Given the description of an element on the screen output the (x, y) to click on. 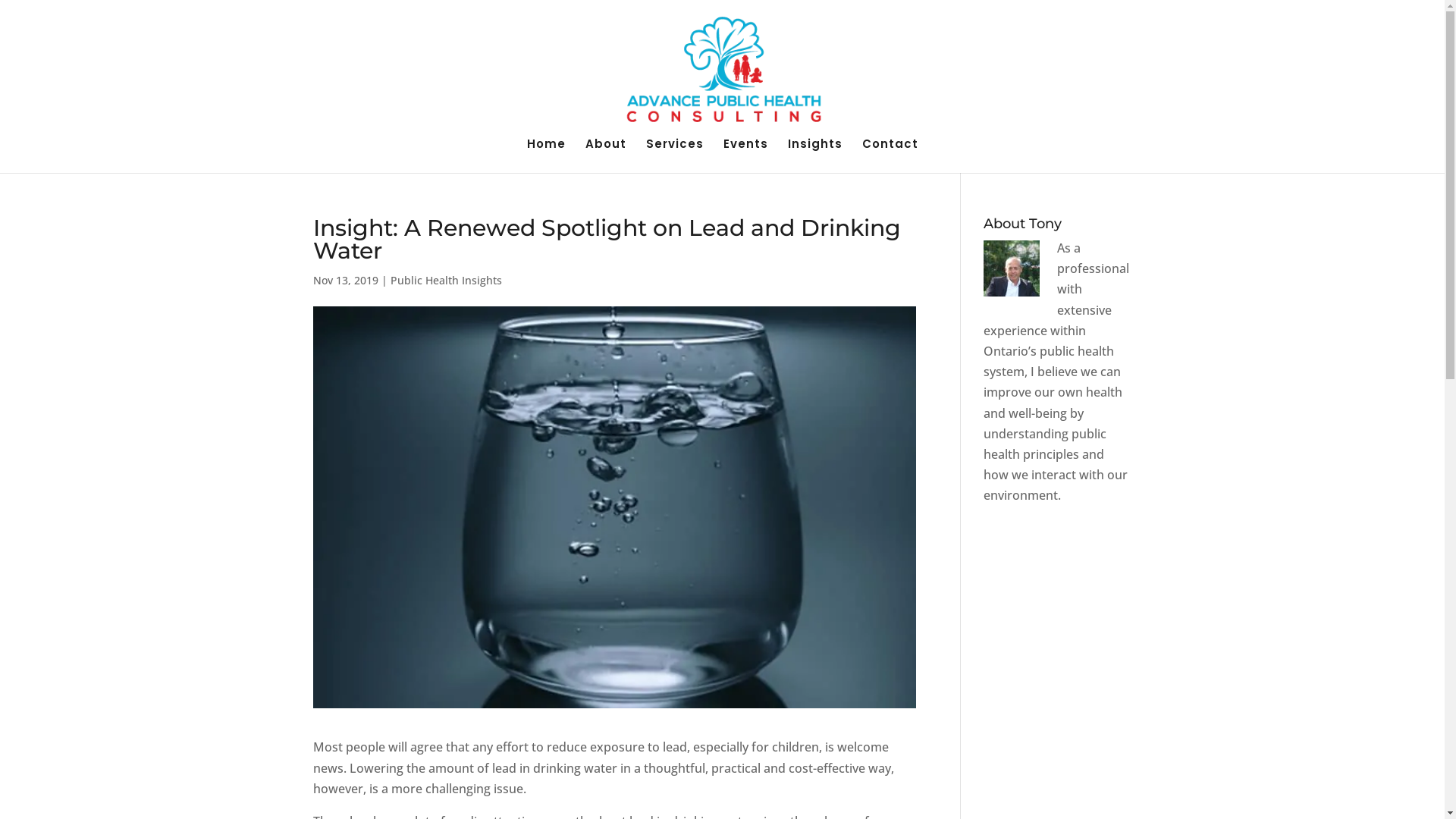
Public Health Insights Element type: text (445, 280)
Services Element type: text (674, 155)
Events Element type: text (745, 155)
Insights Element type: text (814, 155)
Home Element type: text (545, 155)
Contact Element type: text (889, 155)
About Element type: text (605, 155)
